Given the description of an element on the screen output the (x, y) to click on. 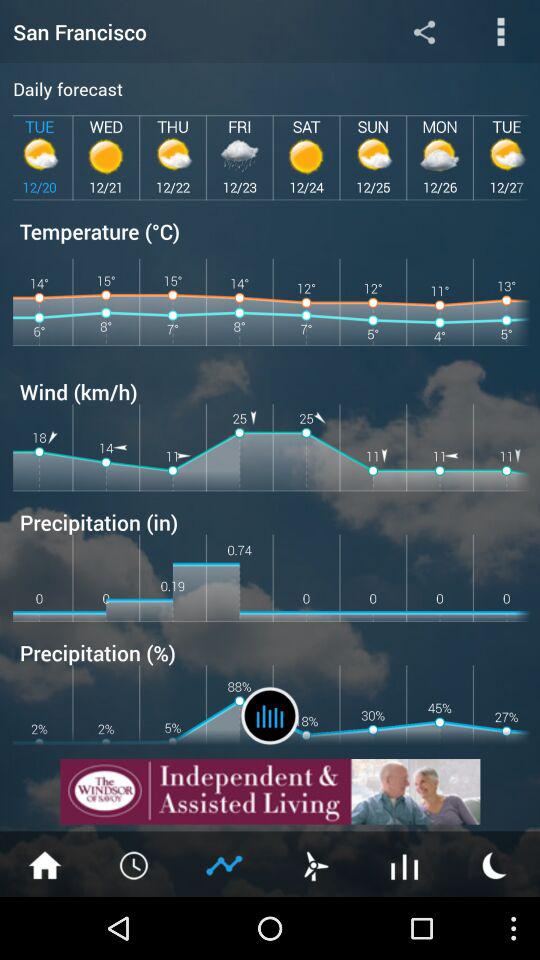
alarm (135, 864)
